Given the description of an element on the screen output the (x, y) to click on. 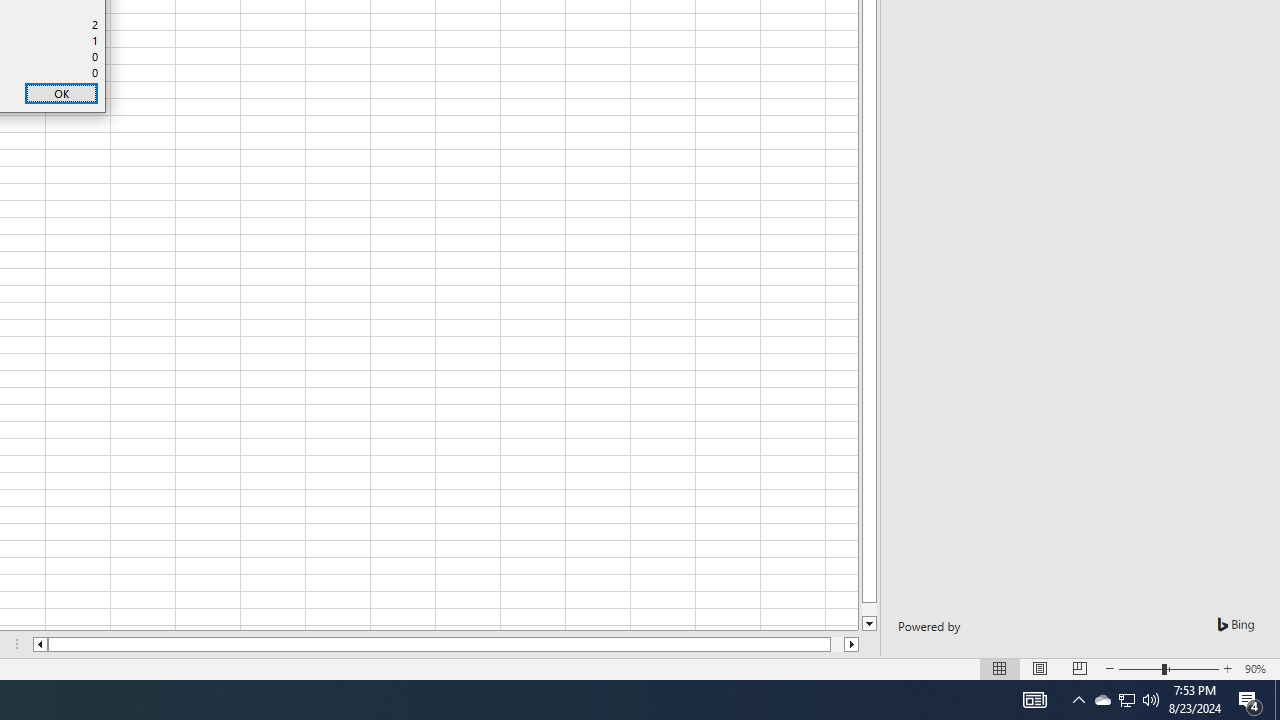
AutomationID: 4105 (1034, 699)
Show desktop (1277, 699)
User Promoted Notification Area (1126, 699)
OK (61, 93)
